Given the description of an element on the screen output the (x, y) to click on. 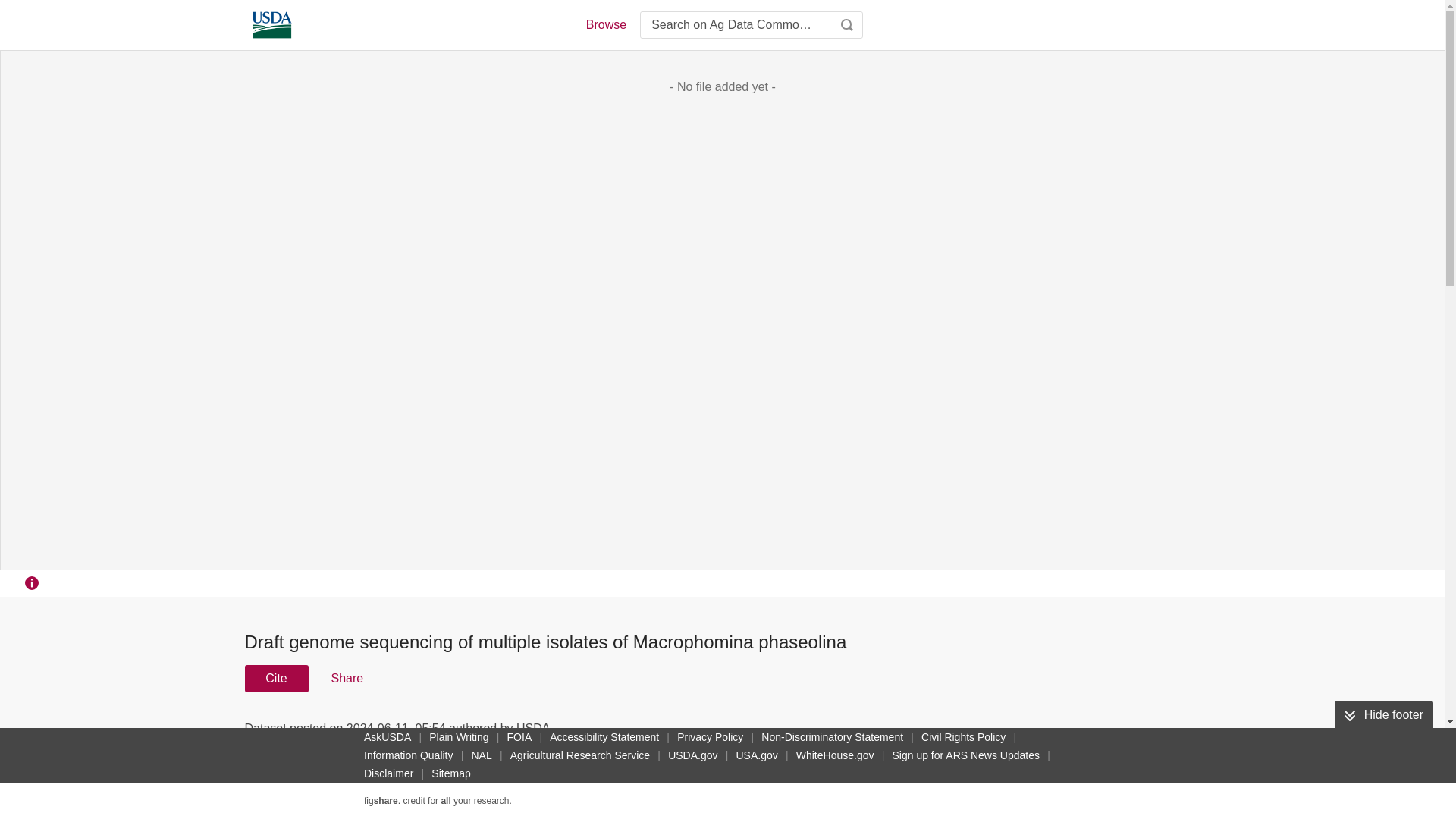
Share (346, 678)
Plain Writing (459, 737)
Accessibility Statement (603, 737)
USAGE METRICS (976, 732)
Hide footer (1383, 715)
USA.gov (755, 755)
Information Quality (408, 755)
Sitemap (450, 773)
Browse (605, 24)
Cite (275, 678)
